Given the description of an element on the screen output the (x, y) to click on. 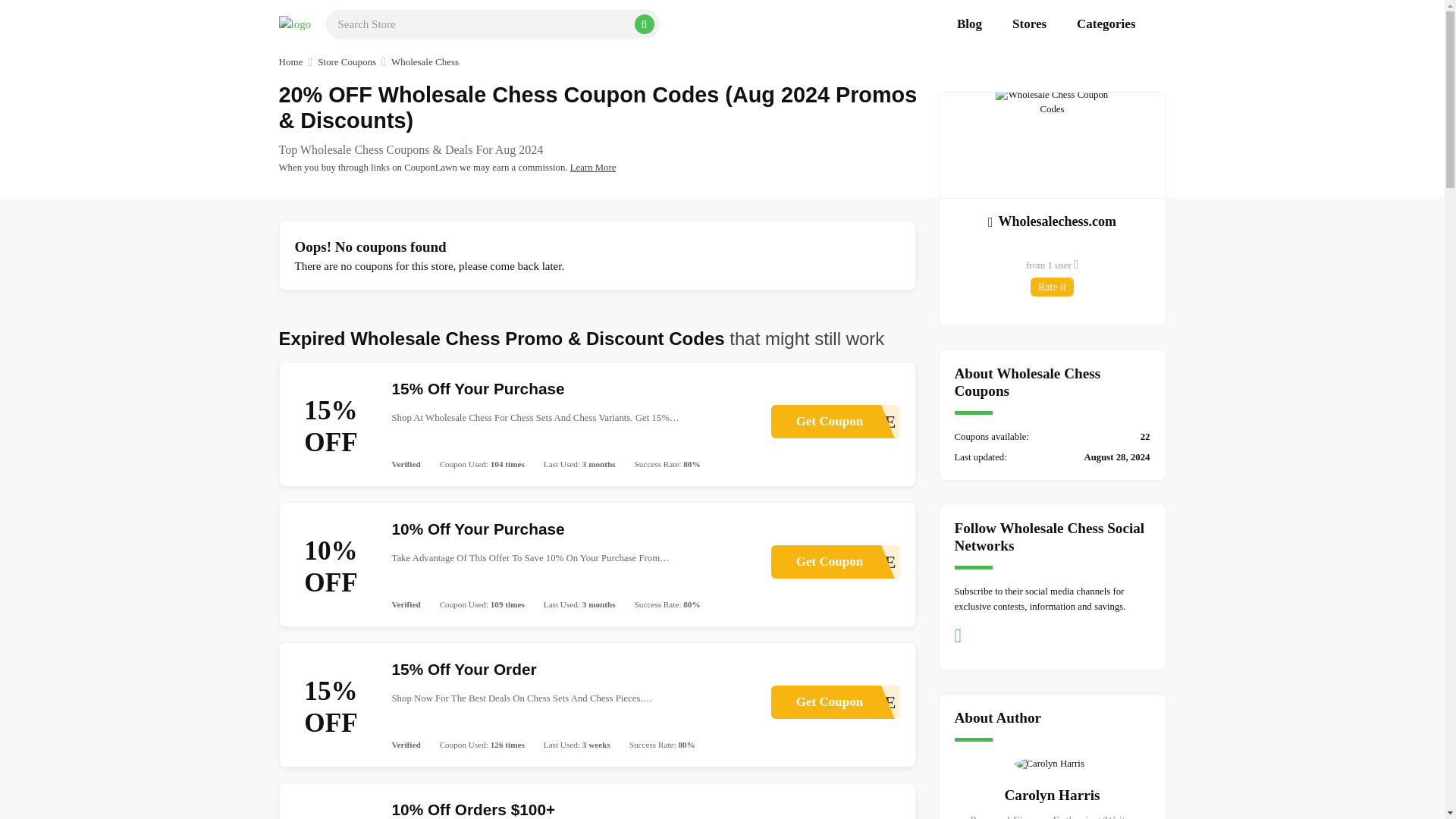
Home (290, 61)
Learn More (592, 167)
Rate it (834, 561)
Store Coupons (1052, 286)
Wholesalechess.com (346, 61)
Categories (1052, 220)
